Given the description of an element on the screen output the (x, y) to click on. 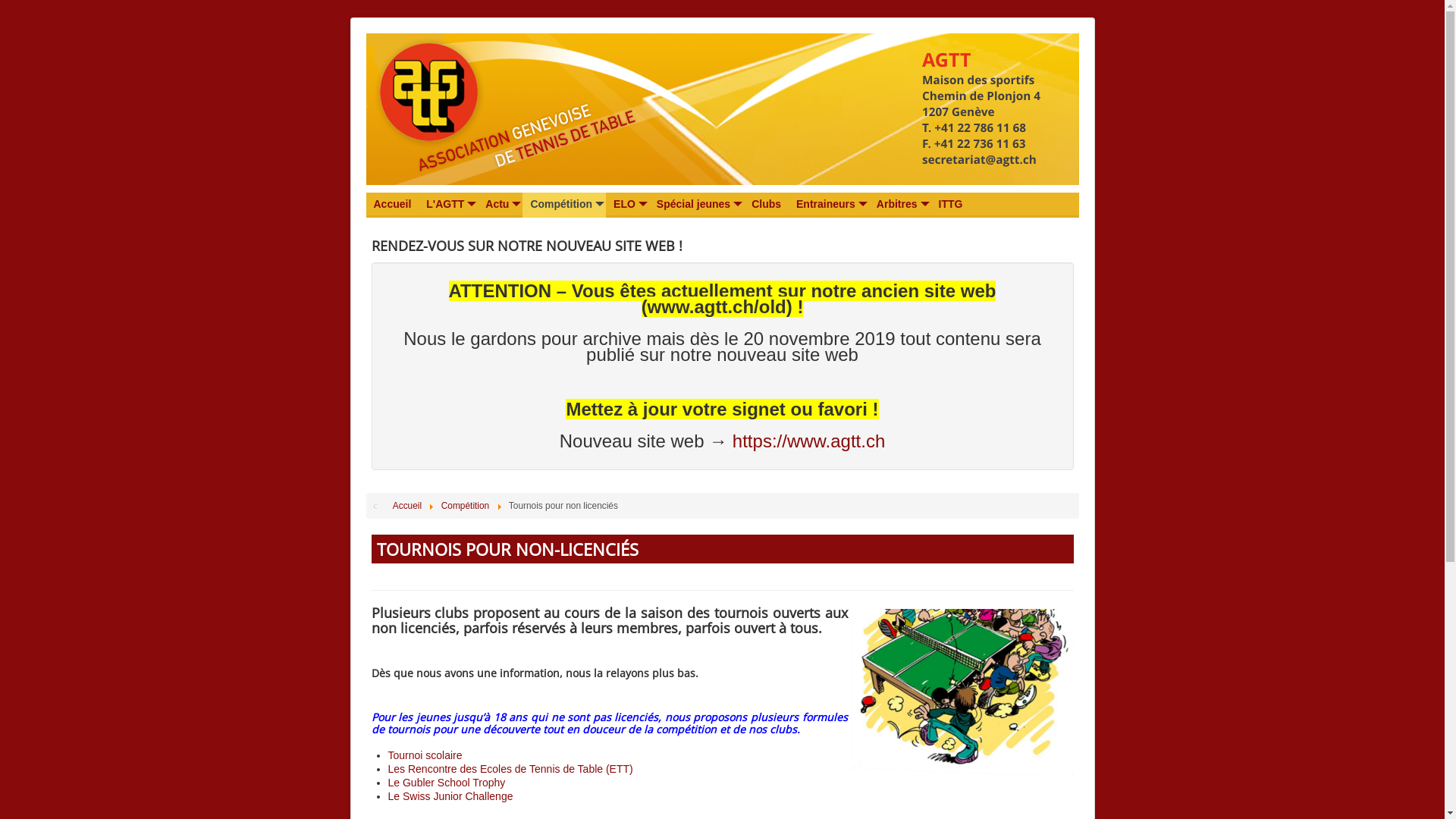
Accueil Element type: text (406, 505)
ELO Element type: text (627, 204)
Tournoi scolaire Element type: text (425, 755)
https://www.agtt.ch Element type: text (808, 440)
Le Gubler School Trophy Element type: text (446, 782)
ITTG Element type: text (950, 204)
Arbitres Element type: text (900, 204)
Accueil Element type: text (391, 204)
Actu Element type: text (499, 204)
Le Swiss Junior Challenge Element type: text (450, 796)
Les Rencontre des Ecoles de Tennis de Table (ETT) Element type: text (510, 768)
L'AGTT Element type: text (447, 204)
Clubs Element type: text (765, 204)
Entraineurs Element type: text (828, 204)
